Given the description of an element on the screen output the (x, y) to click on. 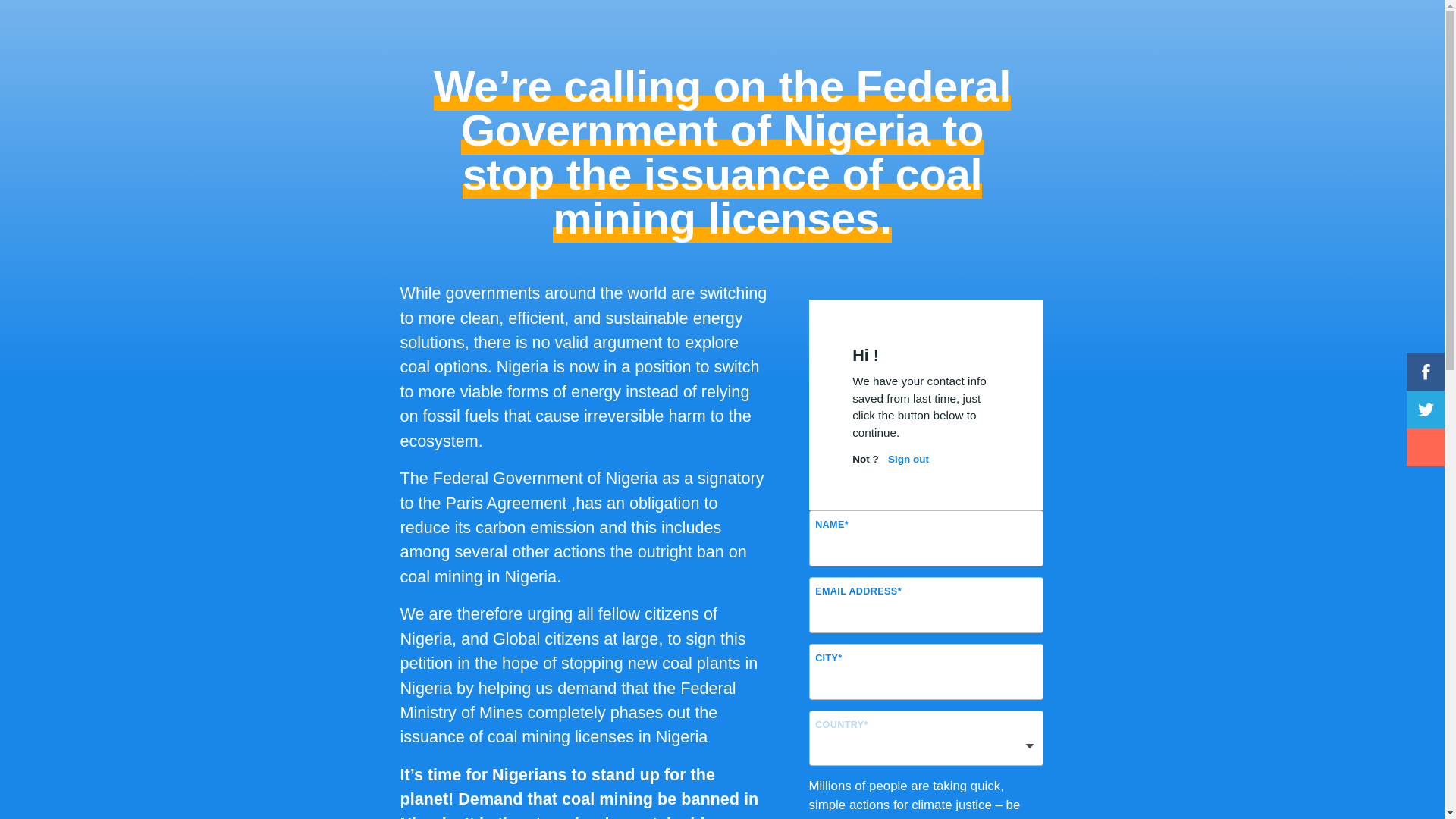
Sign out (904, 459)
